Given the description of an element on the screen output the (x, y) to click on. 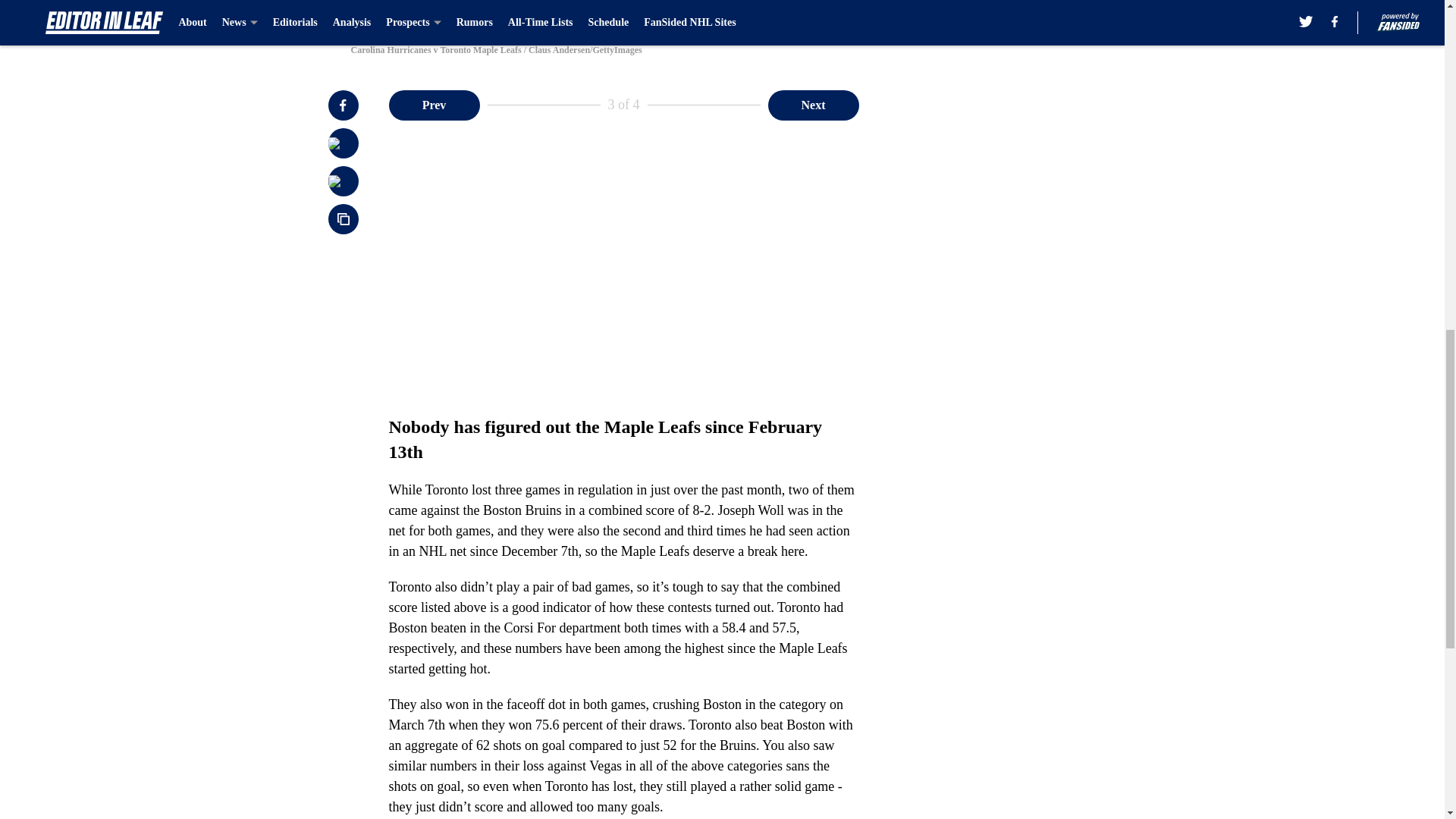
Prev (433, 104)
Carolina Hurricanes v Toronto Maple Leafs (721, 14)
Next (813, 104)
